Given the description of an element on the screen output the (x, y) to click on. 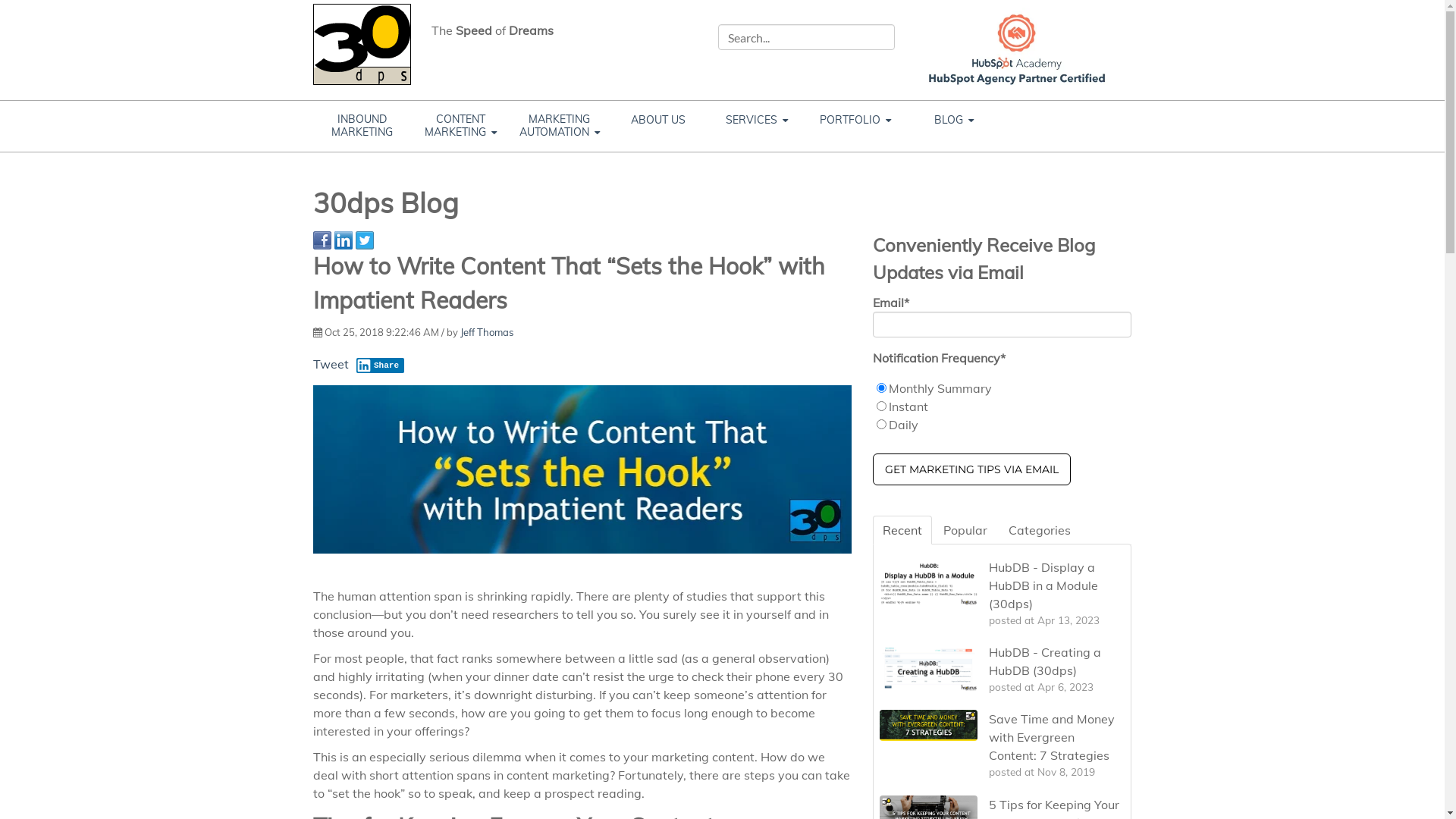
30dps Marketing and Advertising Agency Element type: hover (361, 43)
MARKETING AUTOMATION Element type: text (558, 125)
Popular Element type: text (965, 529)
Recent Element type: text (901, 529)
BLOG Element type: text (952, 119)
PORTFOLIO Element type: text (854, 119)
HubDB - Display a HubDB in a Module (30dps) Element type: text (1043, 585)
Jeff Thomas Element type: text (485, 332)
certified hubspot agency partner logo Element type: hover (1016, 45)
Categories Element type: text (1039, 529)
Tweet Element type: text (330, 363)
SERVICES Element type: text (755, 119)
Get Marketing Tips via Email Element type: text (971, 469)
HubDB - Creating a HubDB (30dps) Element type: text (1044, 660)
Save Time and Money with Evergreen Content: 7 Strategies Element type: text (1051, 736)
CONTENT MARKETING Element type: text (460, 125)
ABOUT US Element type: text (657, 119)
INBOUND MARKETING Element type: text (361, 125)
Share Element type: text (380, 365)
